Given the description of an element on the screen output the (x, y) to click on. 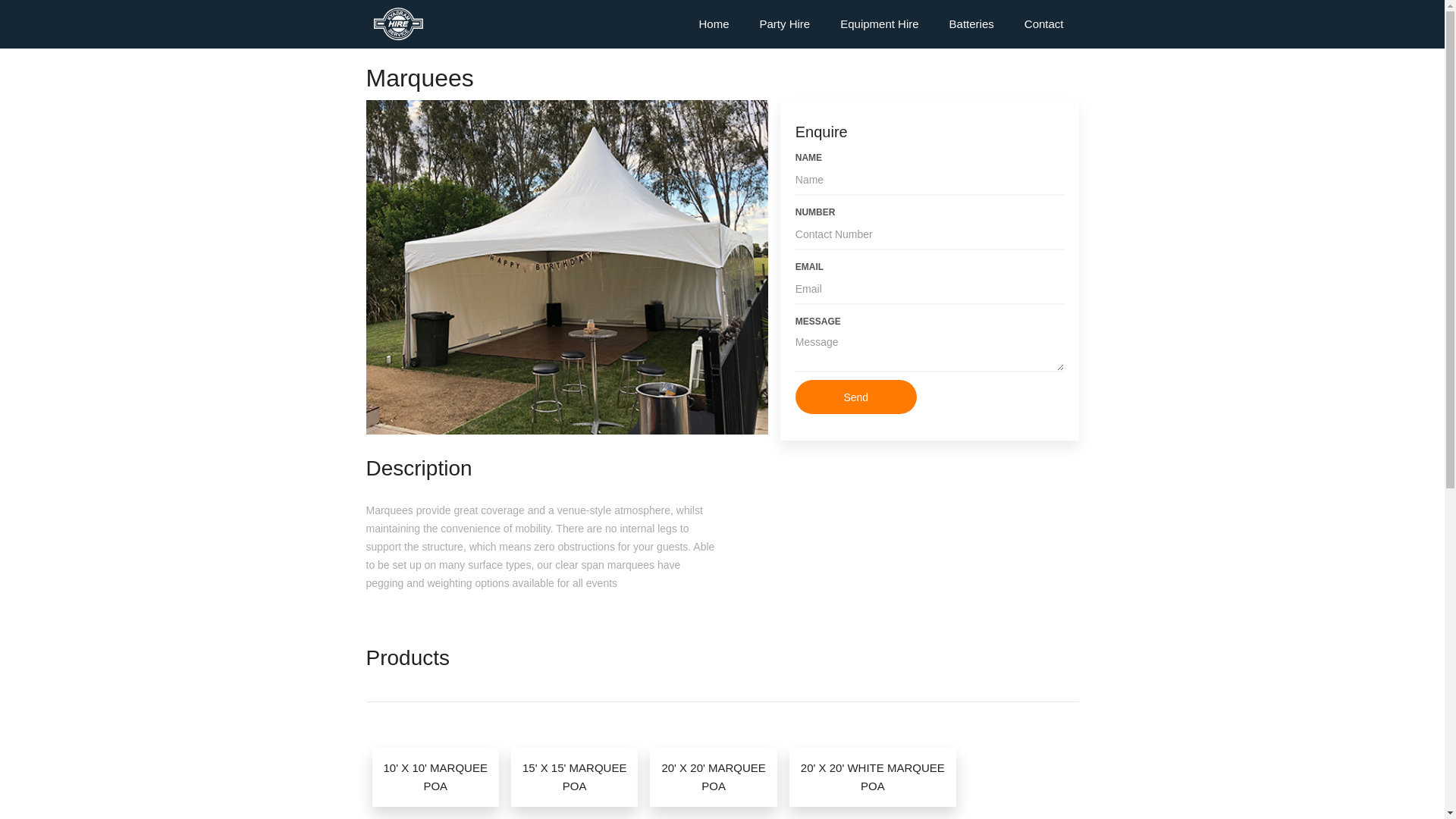
Party Hire Element type: text (784, 24)
Equipment Hire Element type: text (879, 24)
Home Element type: text (714, 24)
Send Element type: text (855, 396)
Contact Element type: text (1044, 24)
Batteries Element type: text (971, 24)
